Given the description of an element on the screen output the (x, y) to click on. 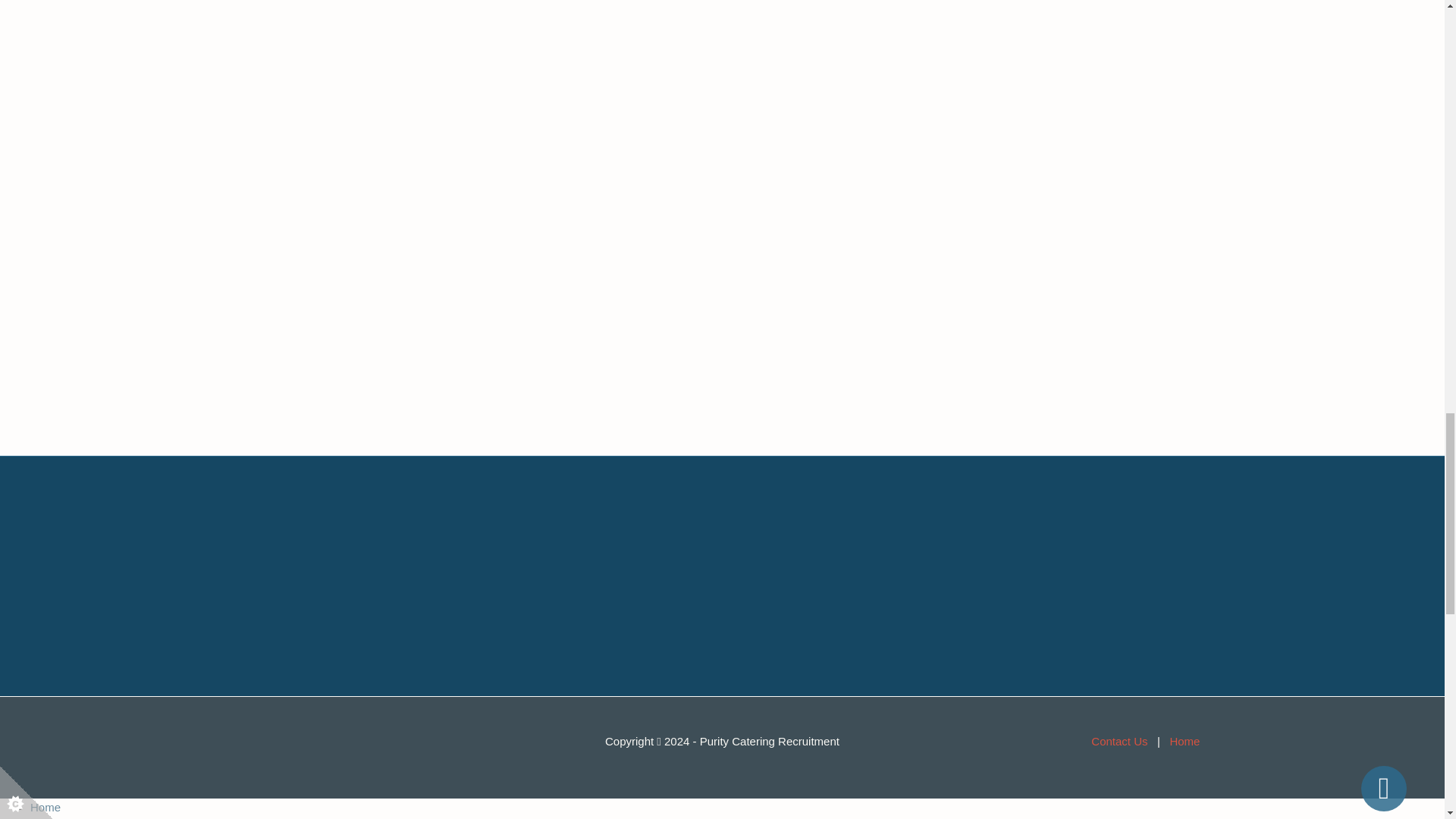
Contact Us (1118, 739)
Home (45, 807)
Home (1184, 739)
